Given the description of an element on the screen output the (x, y) to click on. 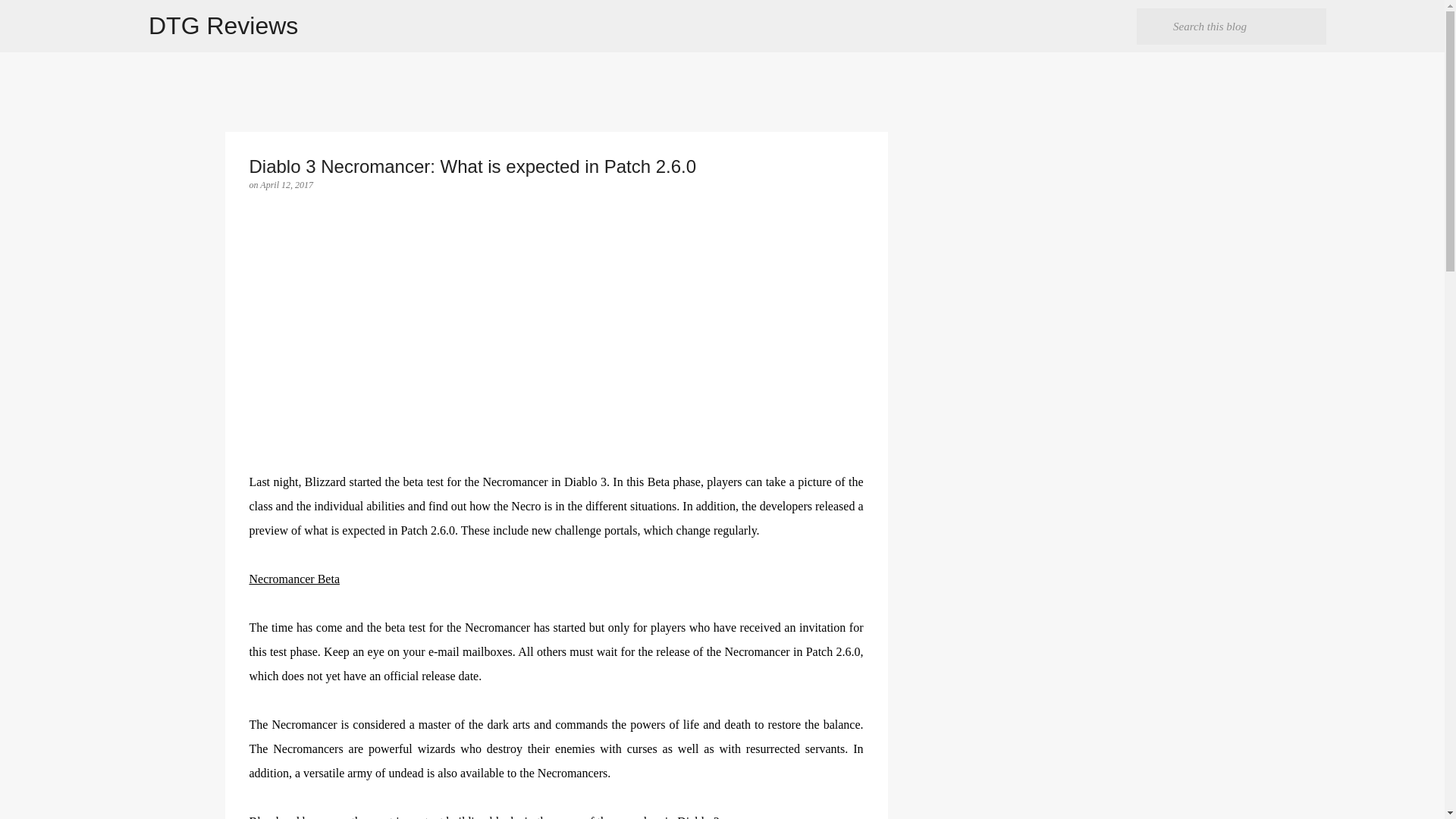
DTG Reviews (223, 25)
April 12, 2017 (286, 184)
permanent link (286, 184)
